Given the description of an element on the screen output the (x, y) to click on. 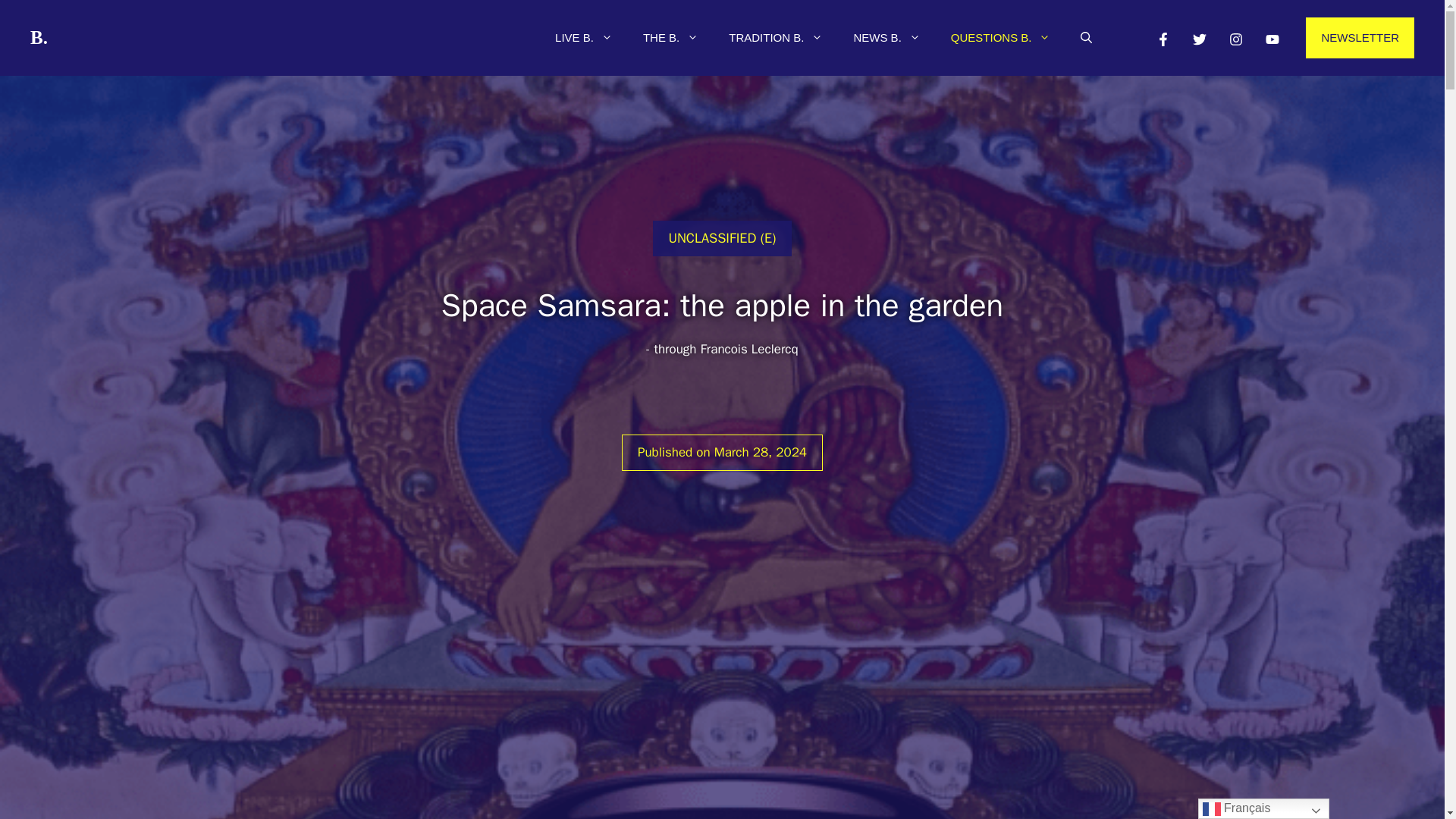
LIVE B. (583, 37)
QUESTIONS B. (1000, 37)
B. (39, 37)
TRADITION B. (775, 37)
NEWS B. (886, 37)
THE B. (670, 37)
